Given the description of an element on the screen output the (x, y) to click on. 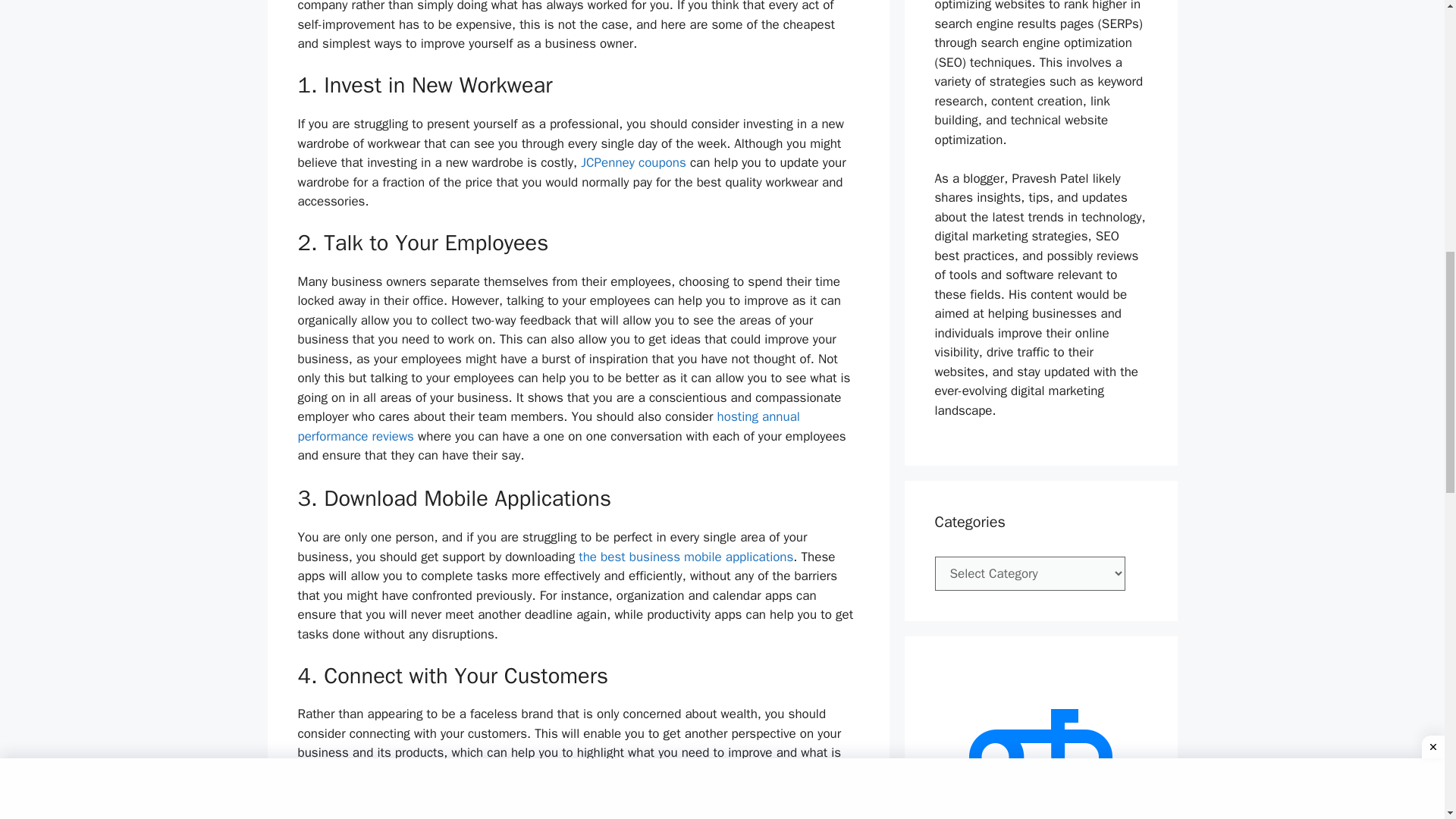
JCPenney coupons (632, 162)
the best business mobile applications (685, 556)
connecting with your customers (557, 772)
hosting annual performance reviews (548, 426)
